Given the description of an element on the screen output the (x, y) to click on. 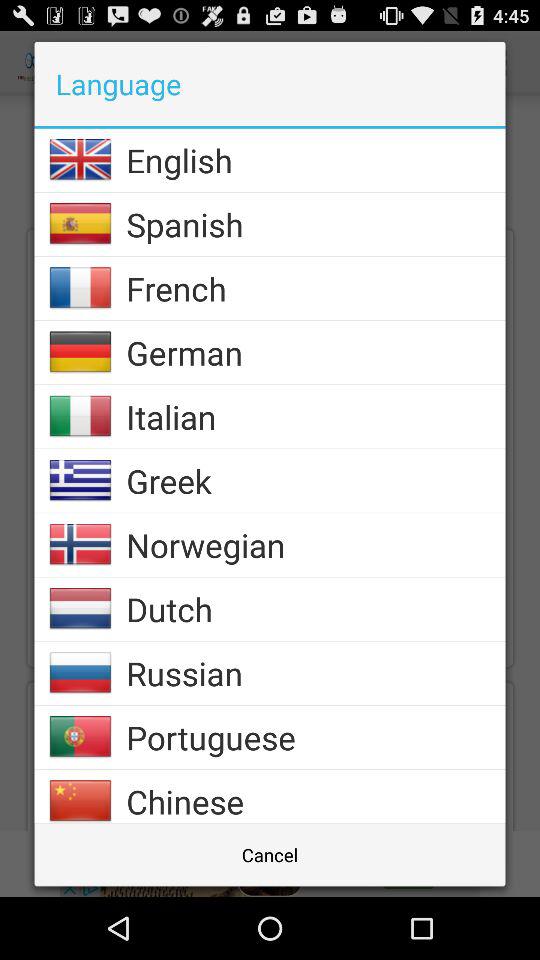
press item below the dutch item (315, 673)
